Given the description of an element on the screen output the (x, y) to click on. 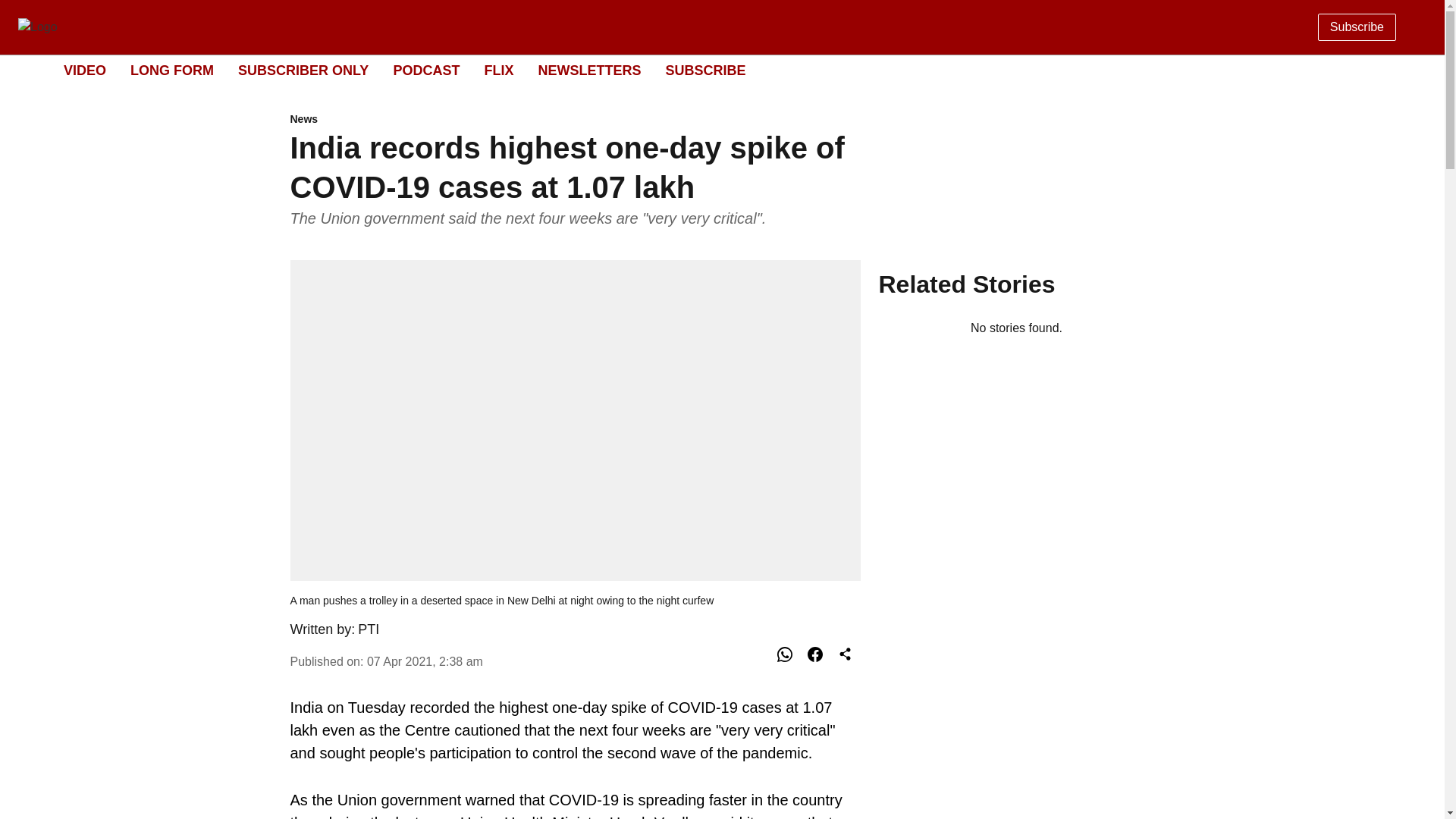
NEWSLETTERS (588, 70)
LONG FORM (172, 70)
PODCAST (426, 70)
PTI (368, 629)
FLIX (498, 70)
SUBSCRIBER ONLY (303, 70)
2021-04-07 02:38 (424, 661)
VIDEO (85, 70)
SUBSCRIBE (705, 70)
